Given the description of an element on the screen output the (x, y) to click on. 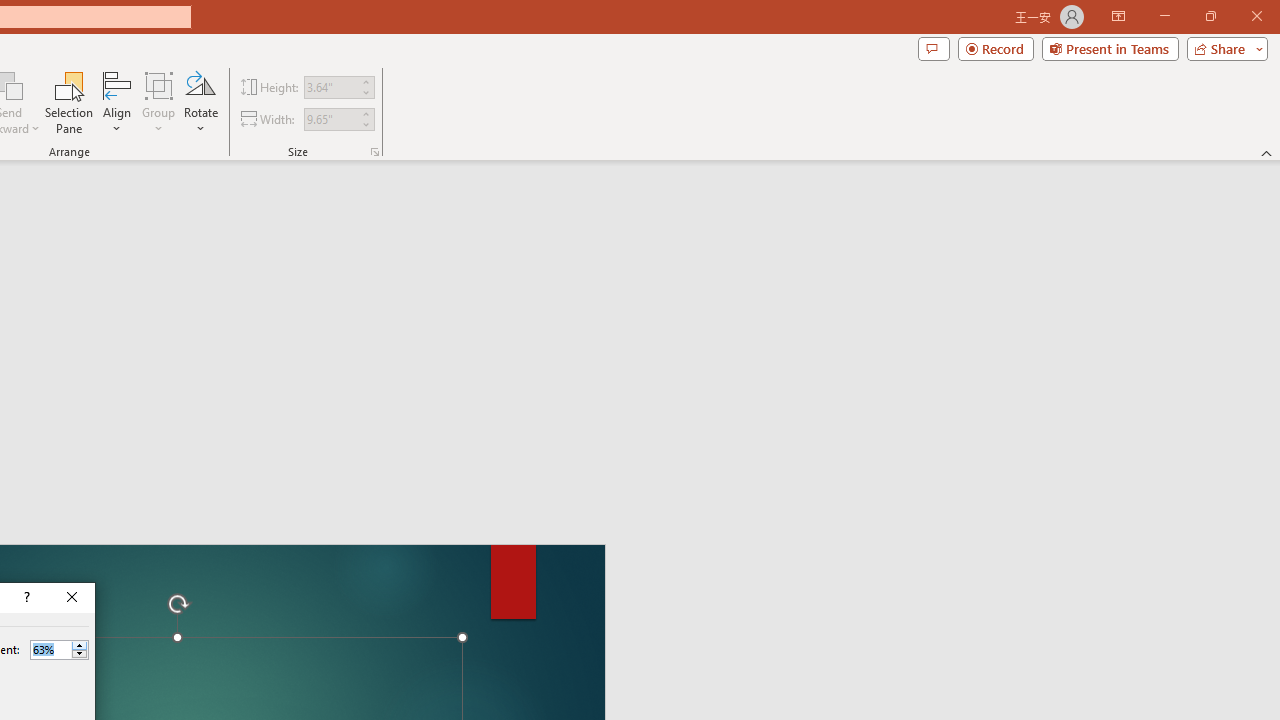
Context help (25, 597)
More (79, 645)
Percent (50, 649)
Selection Pane... (69, 102)
Less (79, 654)
Percent (59, 650)
Size and Position... (374, 151)
